Given the description of an element on the screen output the (x, y) to click on. 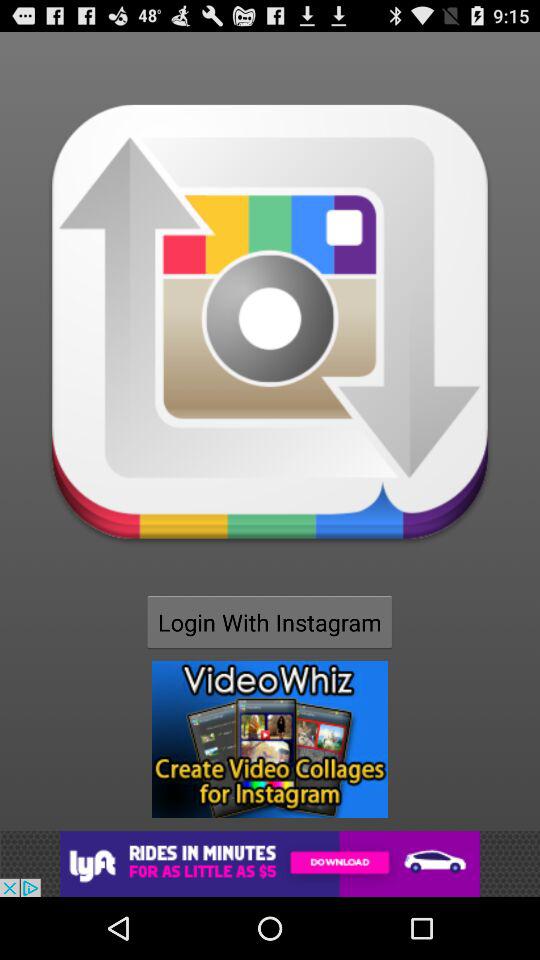
go to videowhiz site (269, 739)
